Given the description of an element on the screen output the (x, y) to click on. 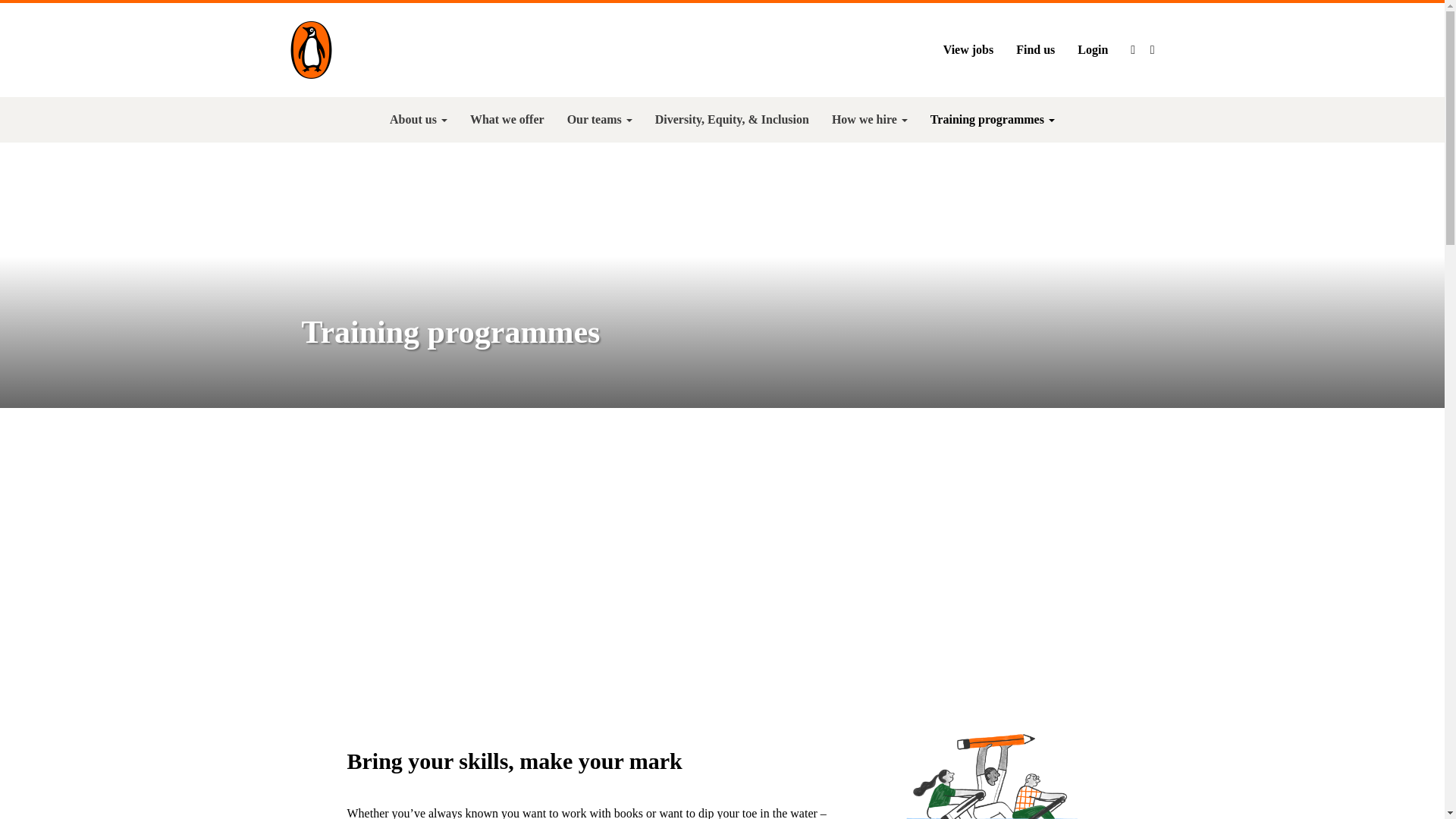
Our teams (599, 119)
Find us (1034, 49)
Training programmes (991, 119)
Login (1092, 49)
About us (418, 119)
What we offer (507, 119)
About us (418, 119)
How we hire (869, 119)
View Jobs (968, 49)
Home (310, 48)
